Given the description of an element on the screen output the (x, y) to click on. 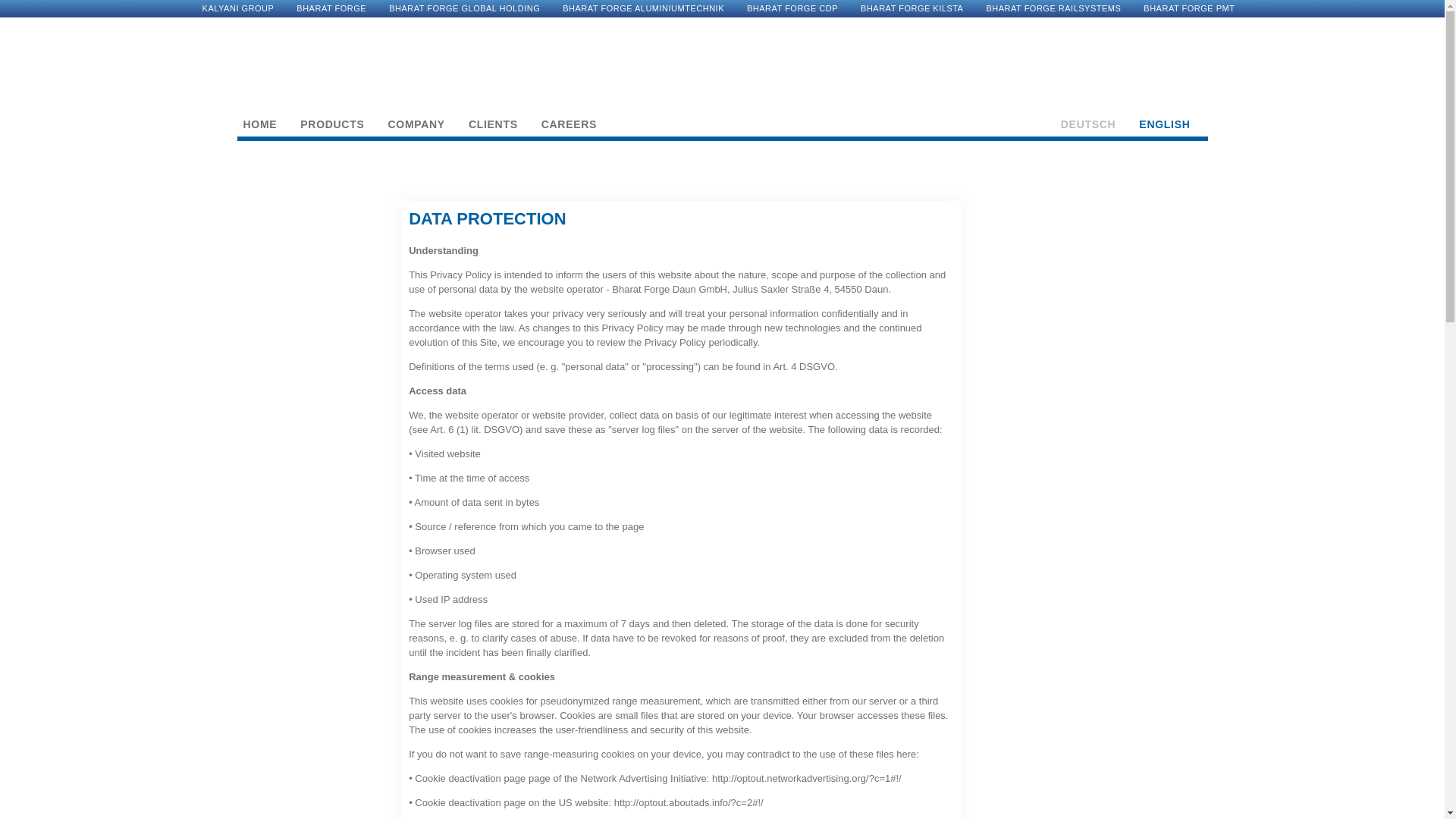
Clients (493, 124)
Careers (568, 124)
HOME (258, 124)
Company (415, 124)
BHARAT FORGE CDP (791, 8)
CAREERS (568, 124)
BHARAT FORGE PMT (1189, 8)
BHARAT FORGE RAILSYSTEMS (1052, 8)
COMPANY (415, 124)
Products (331, 124)
ENGLISH (1163, 124)
BHARAT FORGE GLOBAL HOLDING (464, 8)
BHARAT FORGE KILSTA (911, 8)
BHARAT FORGE (330, 8)
KALYANI GROUP (238, 8)
